Given the description of an element on the screen output the (x, y) to click on. 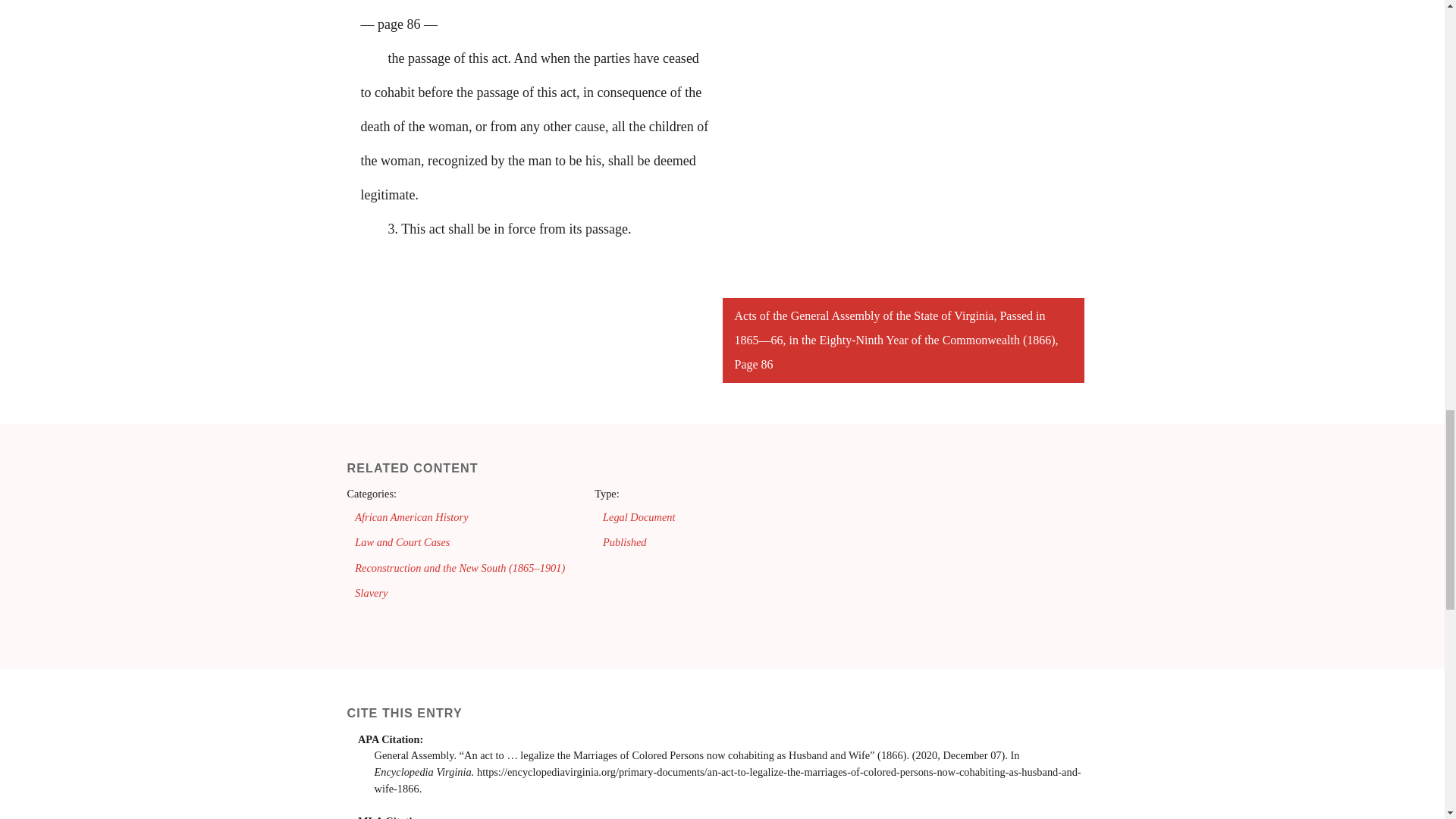
Published (624, 541)
Slavery (371, 592)
African American History (411, 517)
Legal Document (638, 517)
Law and Court Cases (402, 541)
